Given the description of an element on the screen output the (x, y) to click on. 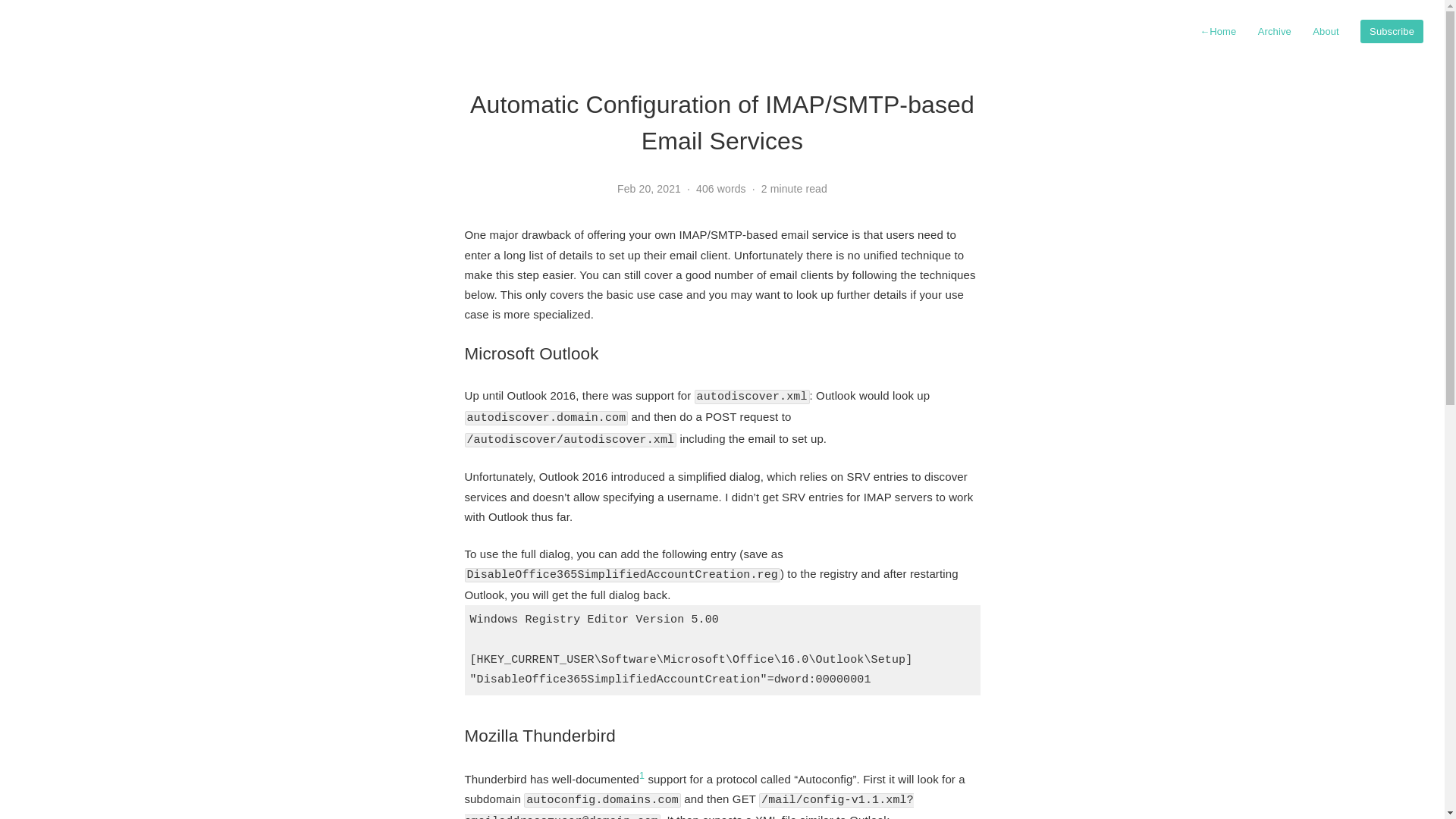
Archive Element type: text (1274, 31)
About Element type: text (1325, 31)
1 Element type: text (641, 775)
Subscribe Element type: text (1391, 31)
